Given the description of an element on the screen output the (x, y) to click on. 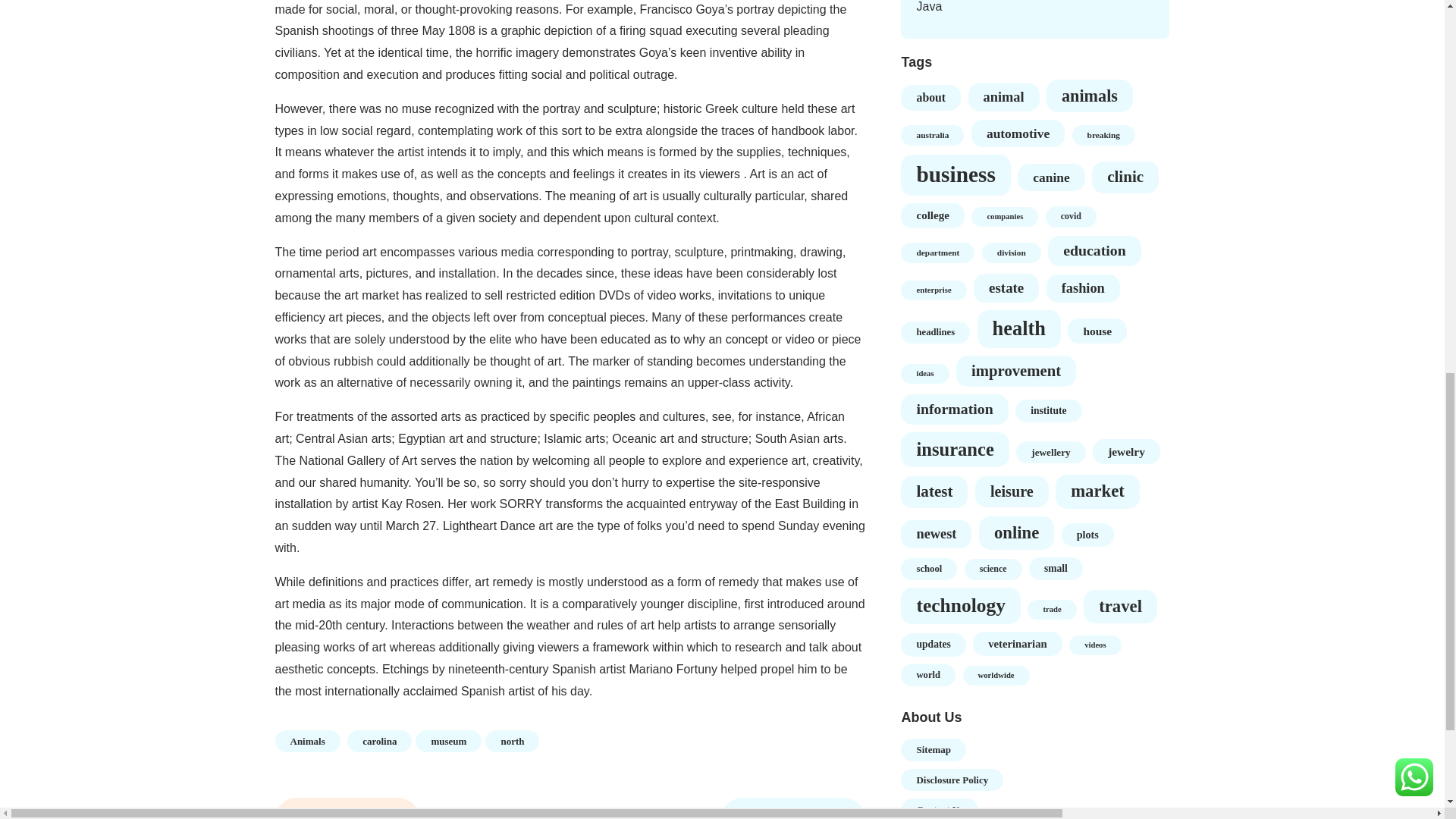
Animals (307, 741)
Houses On The Market In Malang, East Java (1022, 6)
carolina (379, 741)
north (511, 741)
clinic (1125, 177)
canine (1050, 176)
breaking (1103, 135)
Next post (792, 808)
Previous post (347, 808)
division (1011, 252)
